Given the description of an element on the screen output the (x, y) to click on. 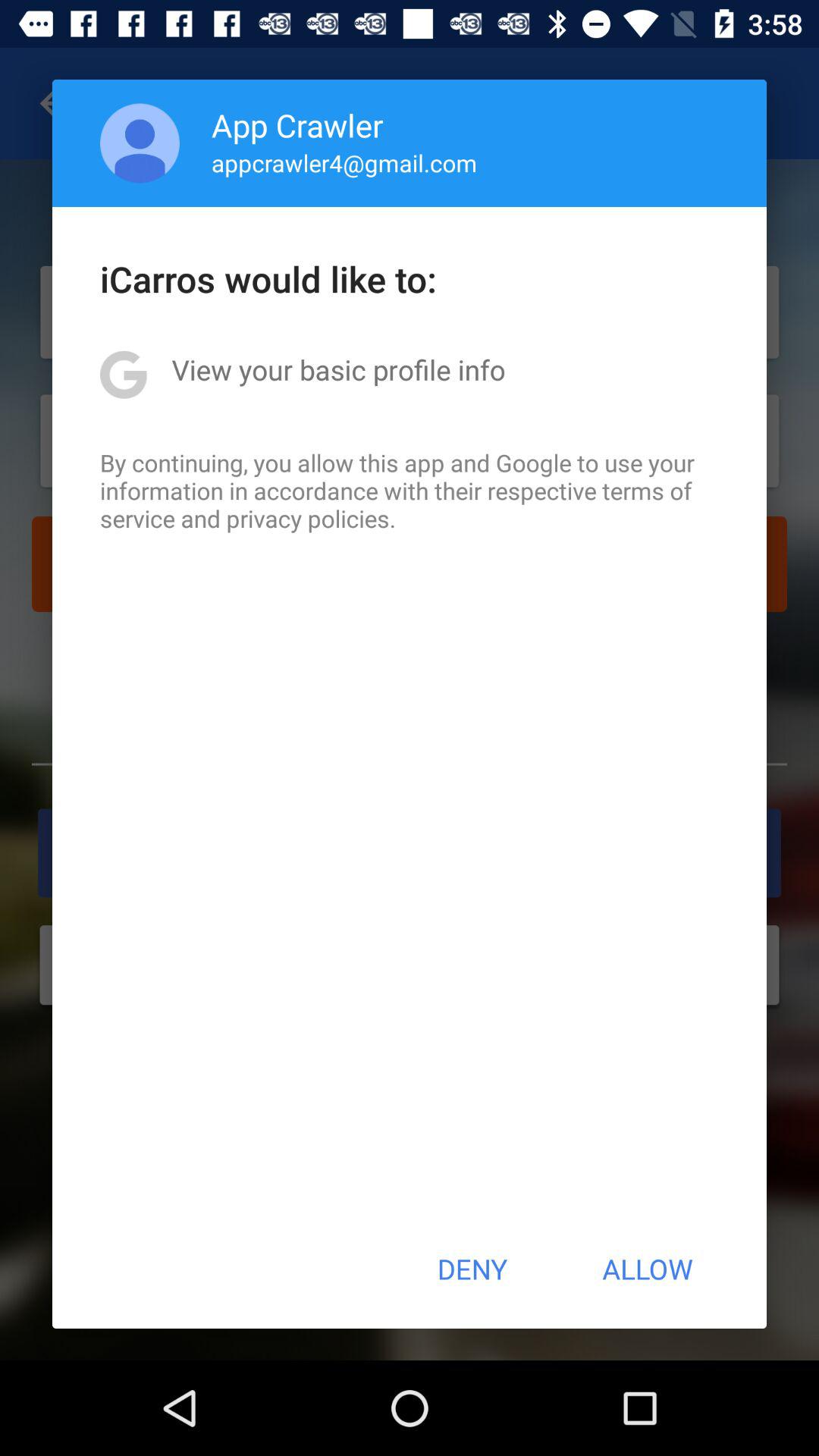
choose the icon next to app crawler item (139, 143)
